Given the description of an element on the screen output the (x, y) to click on. 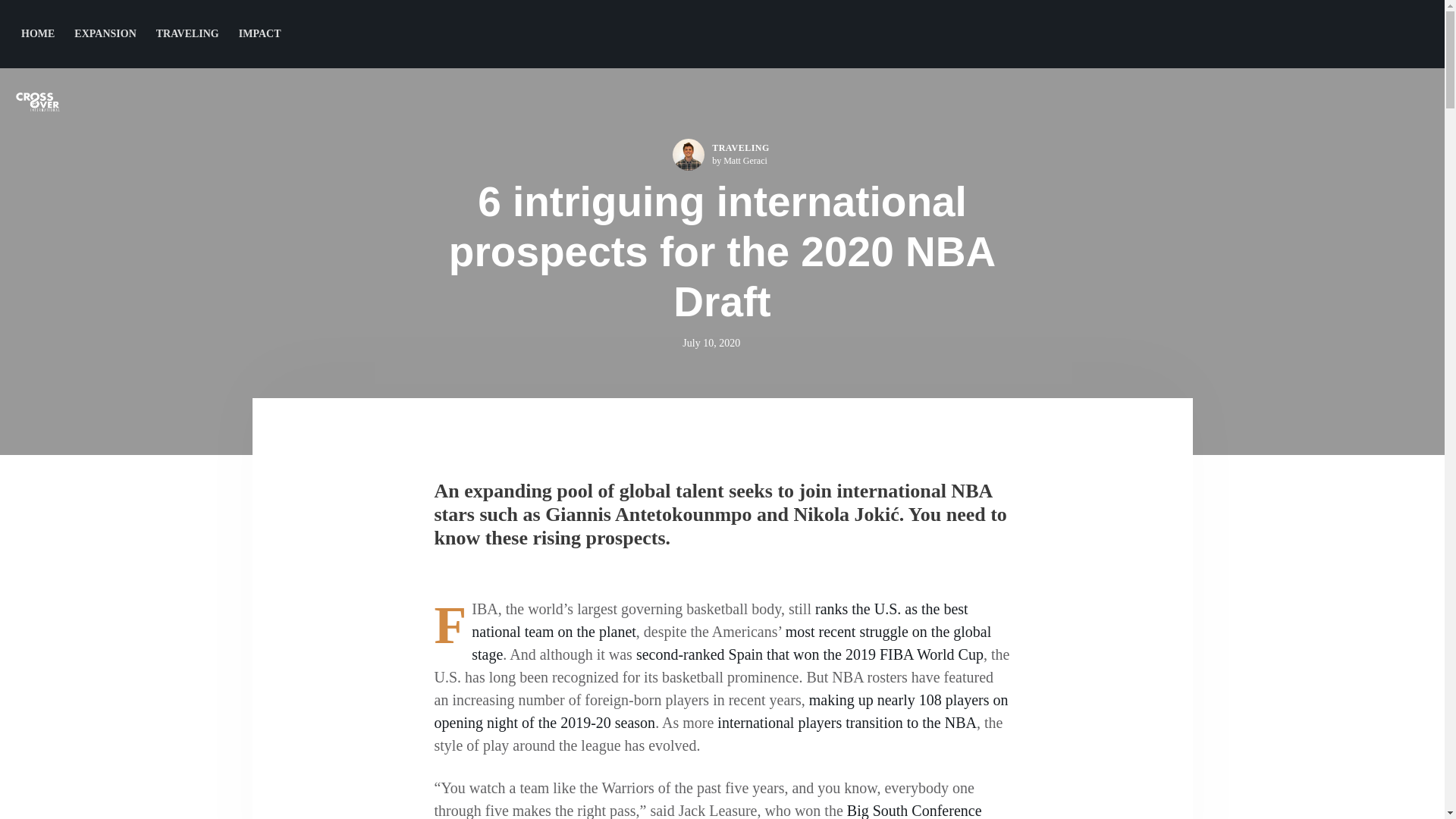
international players transition to the NBA (846, 722)
Big South Conference player of the year (707, 810)
TRAVELING (187, 33)
IMPACT (259, 33)
July 10, 2020 (710, 342)
second-ranked Spain that won the 2019 FIBA World Cup (810, 654)
ranks the U.S. as the best national team on the planet (719, 619)
TRAVELING (740, 146)
s on opening night of the 2019-20 season (720, 711)
HOME (37, 33)
